Given the description of an element on the screen output the (x, y) to click on. 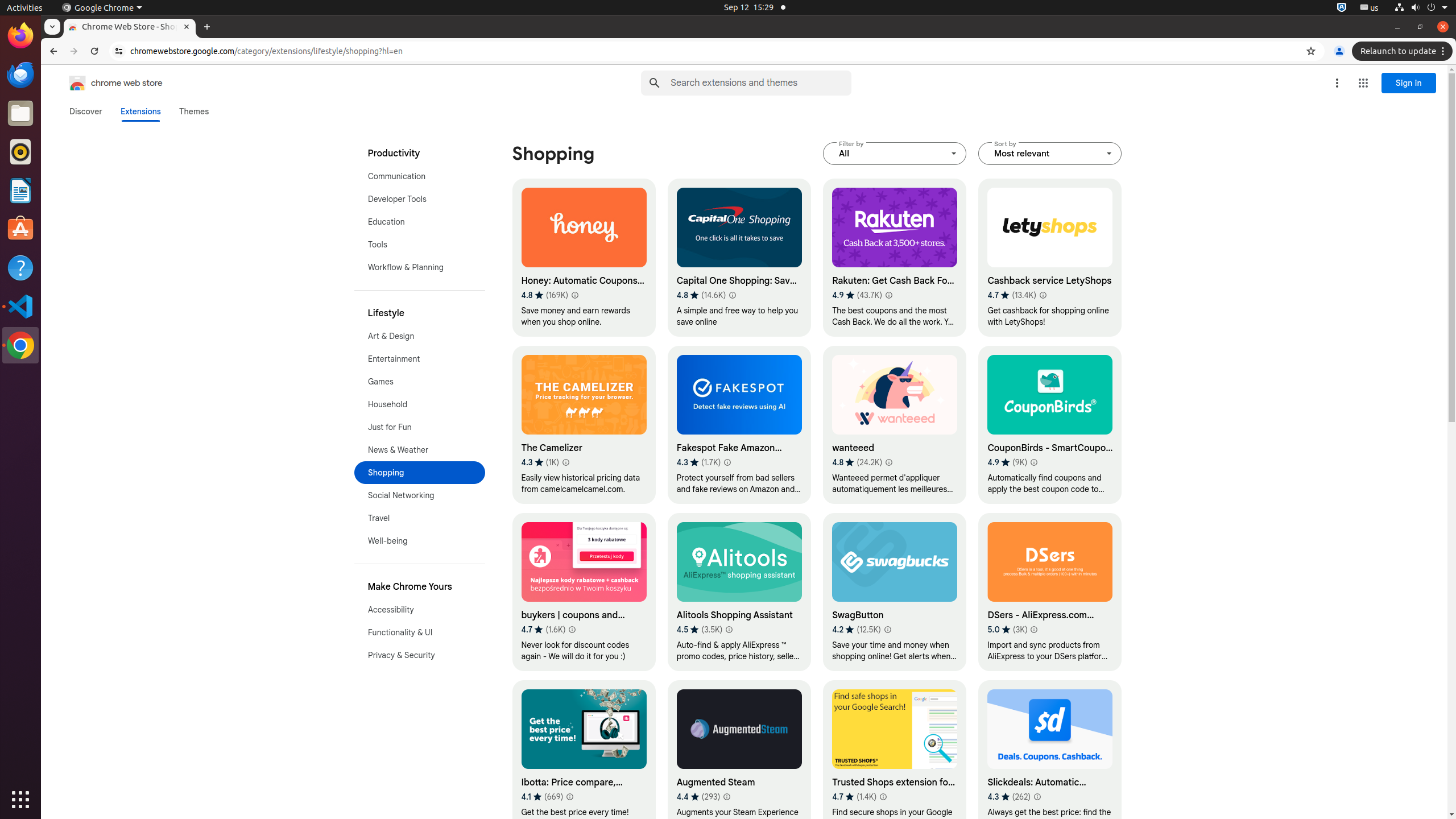
buykers | coupons and discount codes Element type: link (583, 592)
Reload Element type: push-button (94, 50)
Make Chrome Yours Element type: menu-item (419, 586)
CouponBirds - SmartCoupon Coupon Finder Element type: link (1050, 424)
Learn more about results and reviews "Rakuten: Get Cash Back For Shopping" Element type: push-button (887, 295)
